Given the description of an element on the screen output the (x, y) to click on. 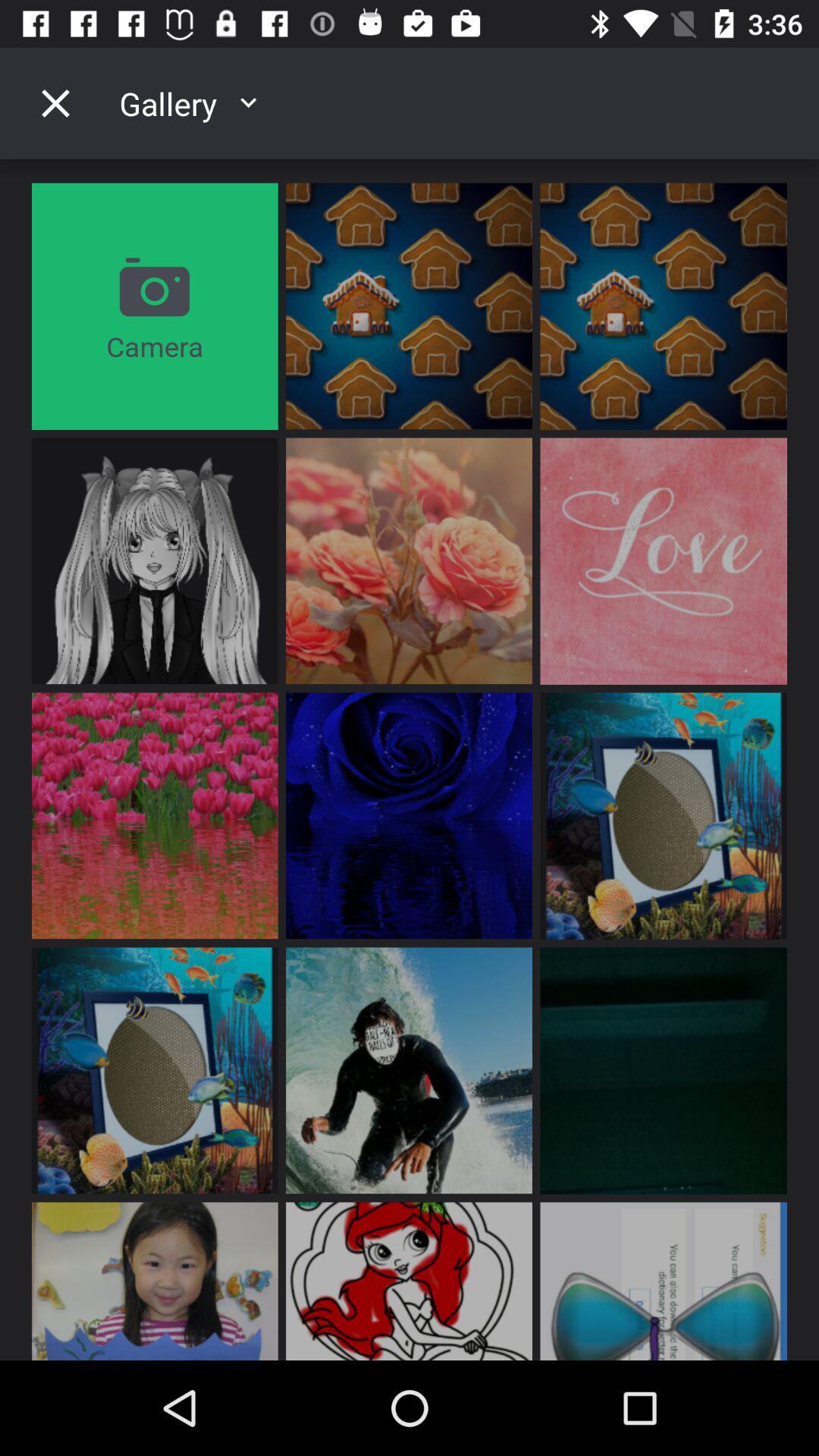
tap the icon to the left of gallery item (55, 103)
